Given the description of an element on the screen output the (x, y) to click on. 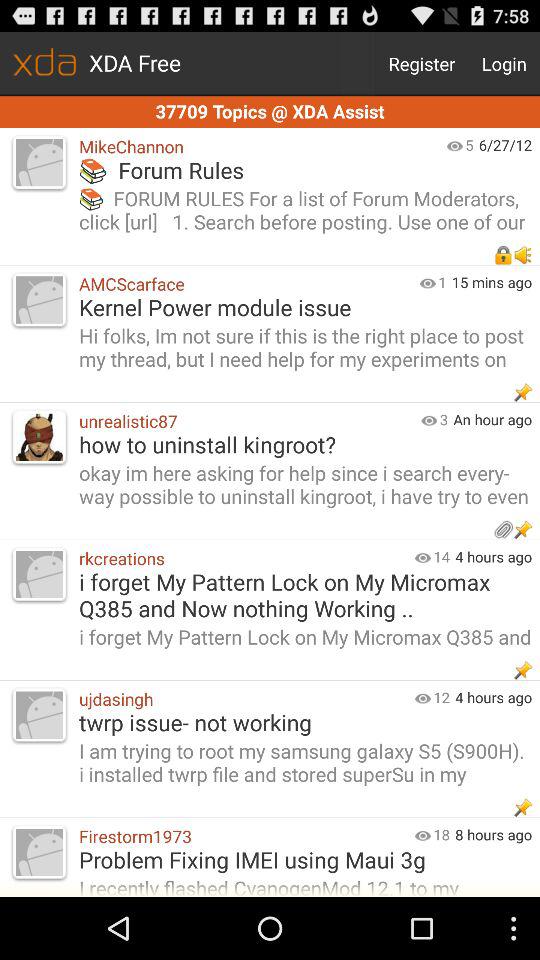
launch the app to the left of the 4 hours ago app (441, 556)
